Given the description of an element on the screen output the (x, y) to click on. 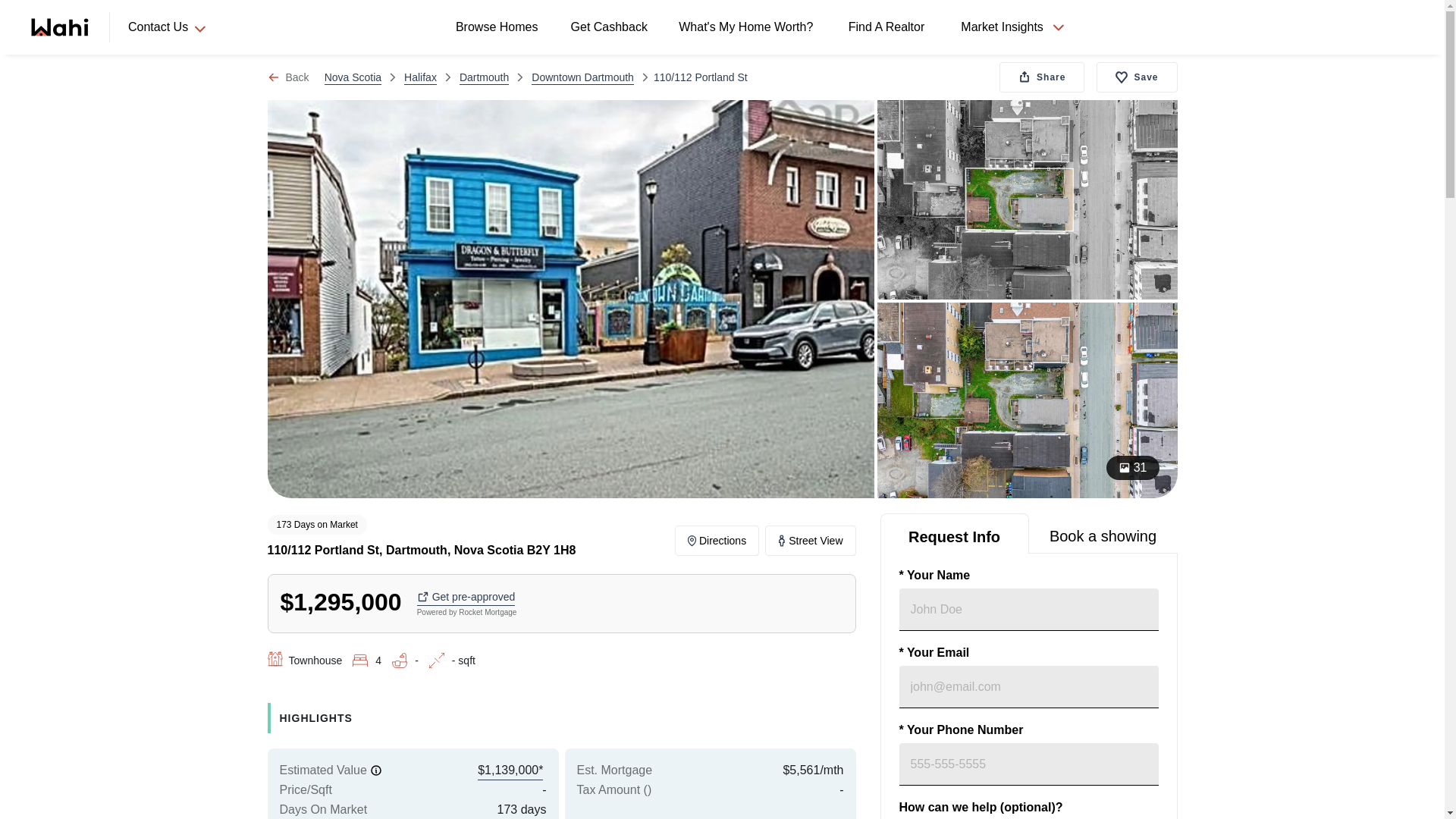
Find A Realtor (889, 27)
Market Insights (1011, 27)
Directions (716, 540)
Downtown Dartmouth (582, 77)
Save (1136, 77)
Street View (810, 540)
Share (1041, 77)
Back (287, 77)
Get Cashback (611, 27)
Nova Scotia (352, 77)
